Given the description of an element on the screen output the (x, y) to click on. 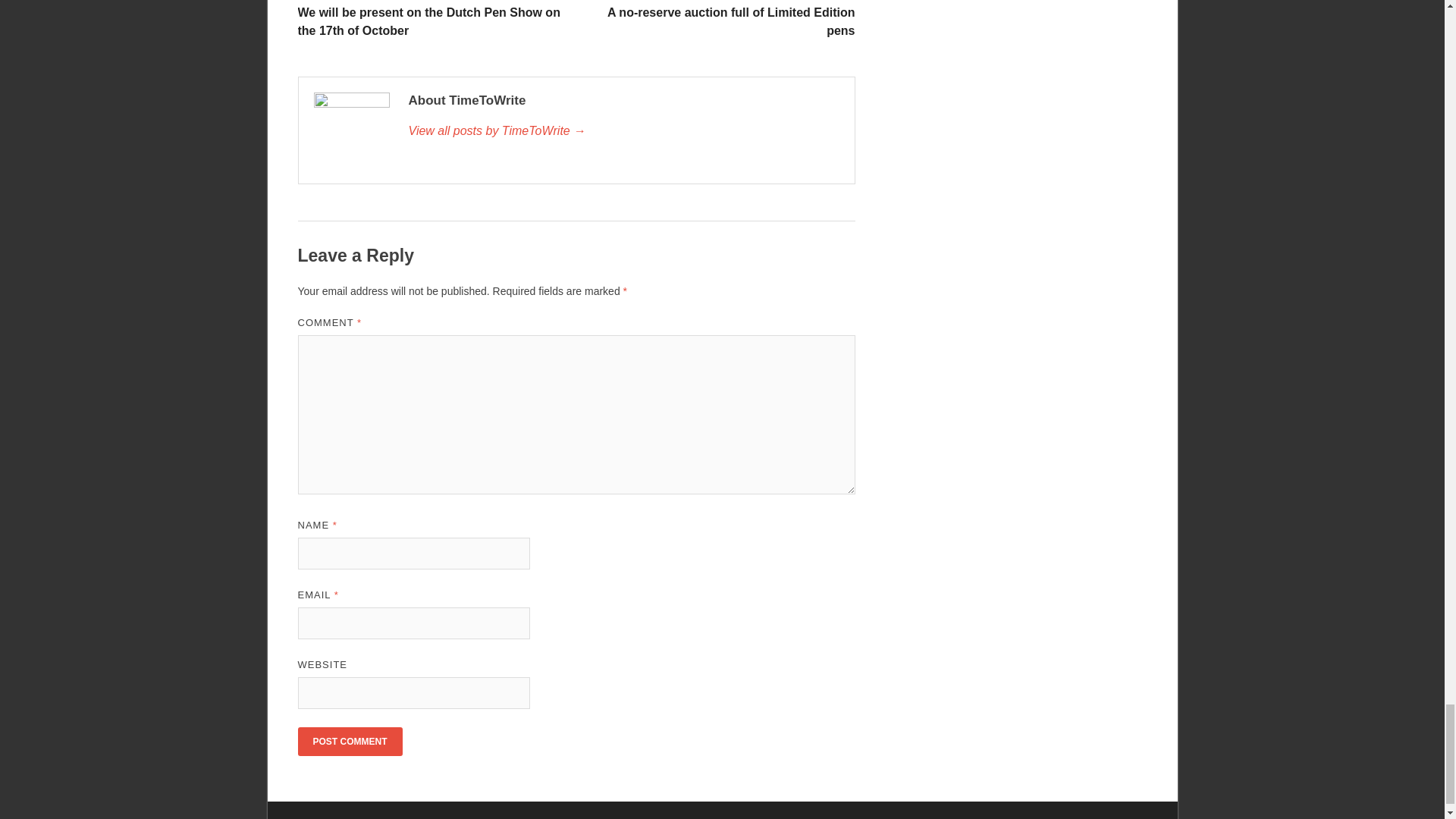
Post Comment (349, 741)
Post Comment (349, 741)
TimeToWrite (622, 131)
